Given the description of an element on the screen output the (x, y) to click on. 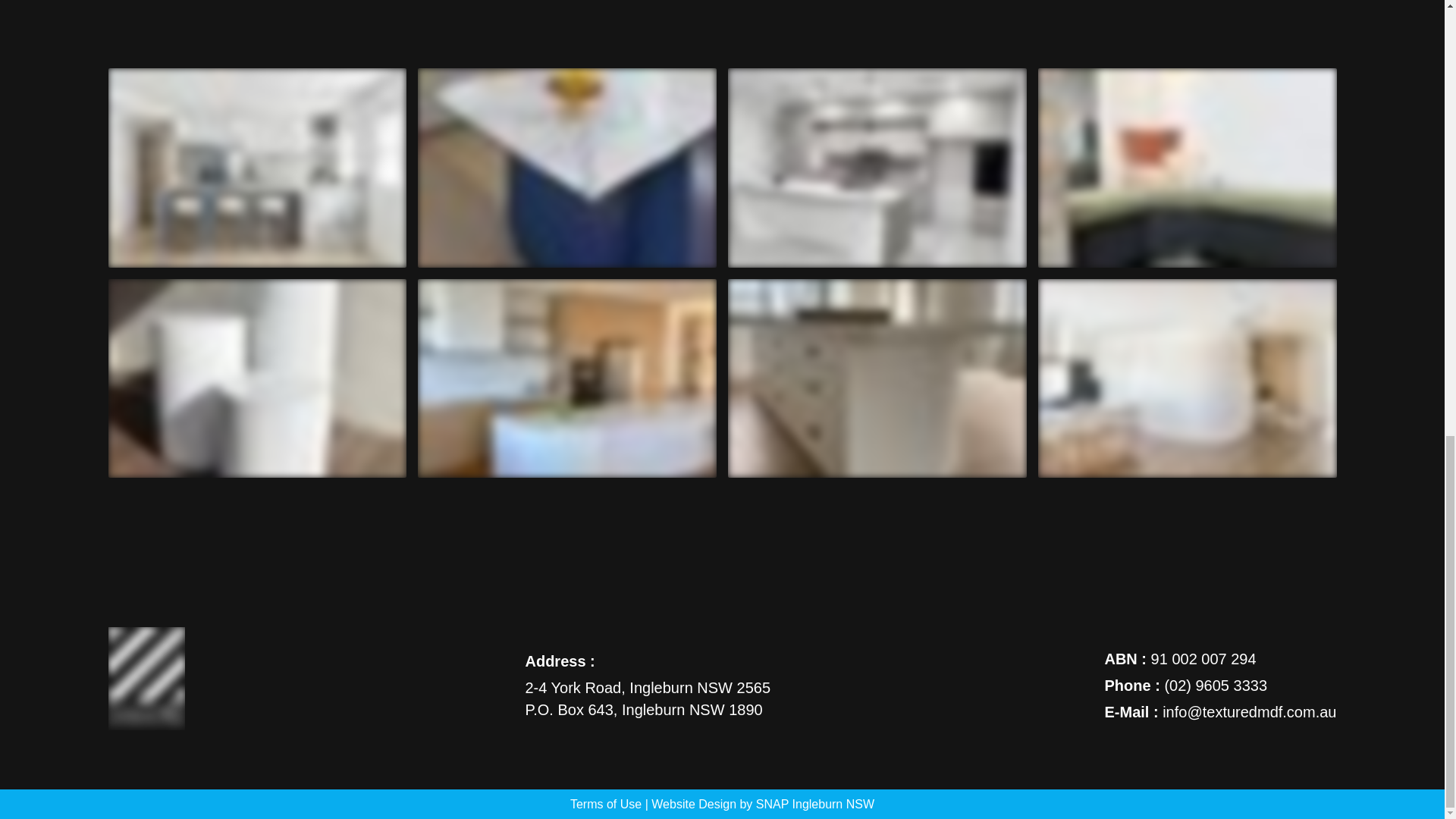
Terms of Use (606, 803)
SNAP Ingleburn NSW (815, 803)
